Given the description of an element on the screen output the (x, y) to click on. 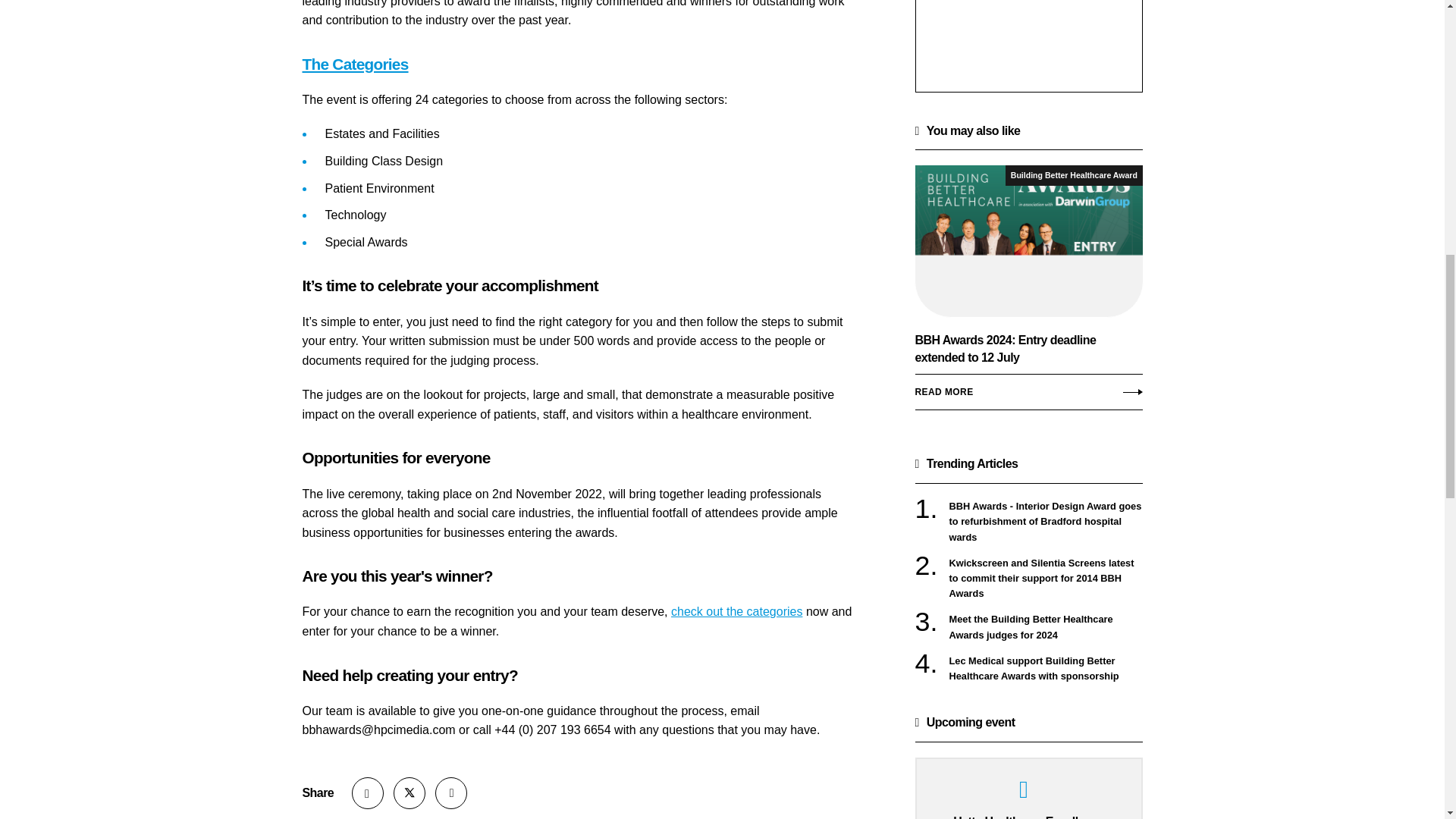
Building Better Healthcare Award (1073, 175)
Share this article (368, 793)
Share (368, 793)
LinkedIn (451, 793)
The Categories (354, 63)
Follow Building Better Healthcare on X (409, 793)
X (409, 793)
Meet the Building Better Healthcare Awards judges for 2024 (1045, 626)
check out the categories (736, 611)
Follow Building Better Healthcare on LinkedIn (451, 793)
